Given the description of an element on the screen output the (x, y) to click on. 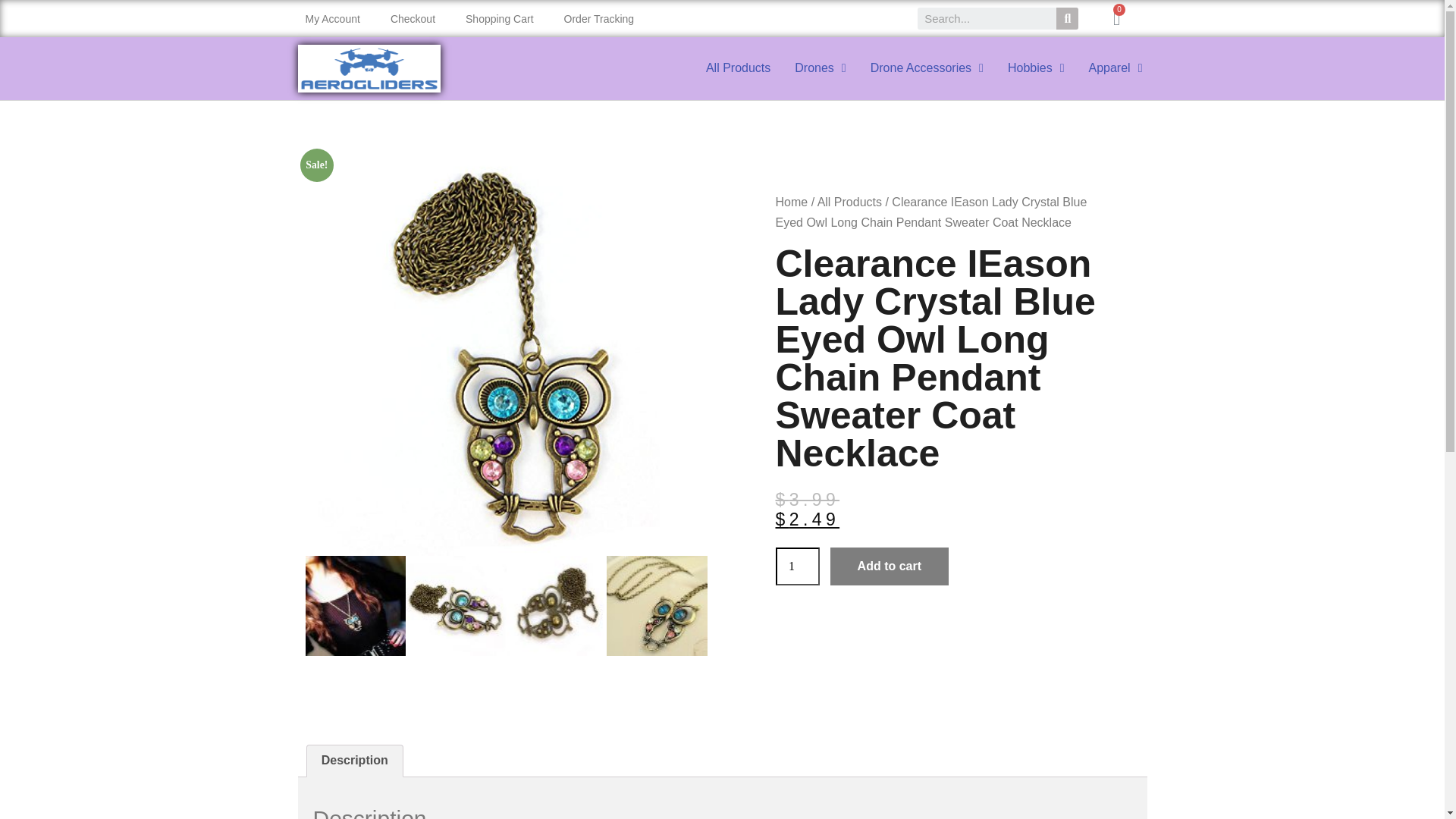
All Products (738, 67)
Search (1067, 18)
1 (796, 566)
Search (987, 18)
Shopping Cart (498, 18)
Drones (820, 67)
51rewTtiE1L.jpg (355, 606)
51jOksssOjL.jpg (456, 606)
Checkout (412, 18)
